Given the description of an element on the screen output the (x, y) to click on. 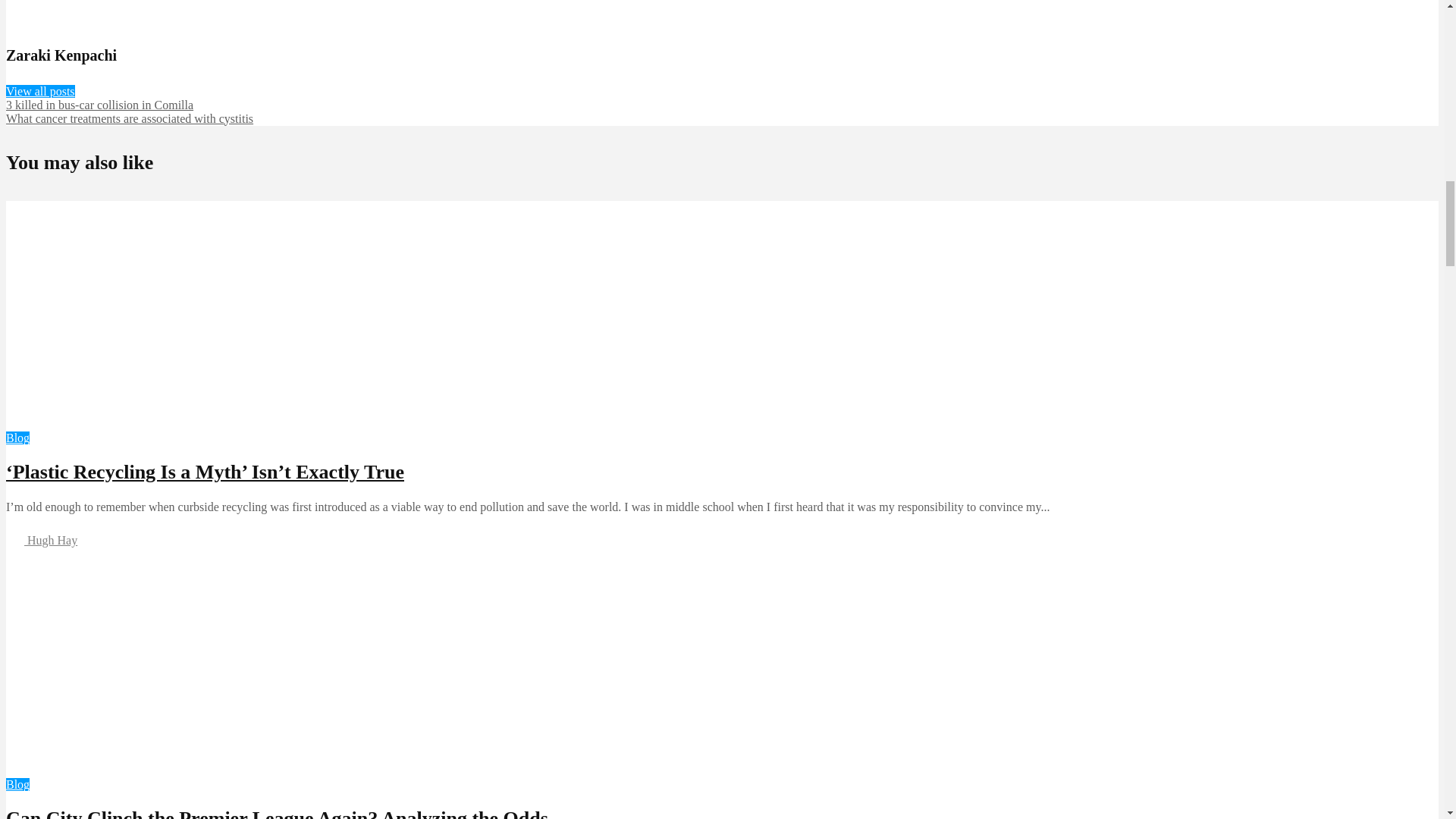
3 killed in bus-car collision in Comilla (99, 104)
Blog (17, 437)
What cancer treatments are associated with cystitis (129, 118)
Can City Clinch the Premier League Again? Analyzing the Odds (151, 770)
View all posts (40, 91)
